Given the description of an element on the screen output the (x, y) to click on. 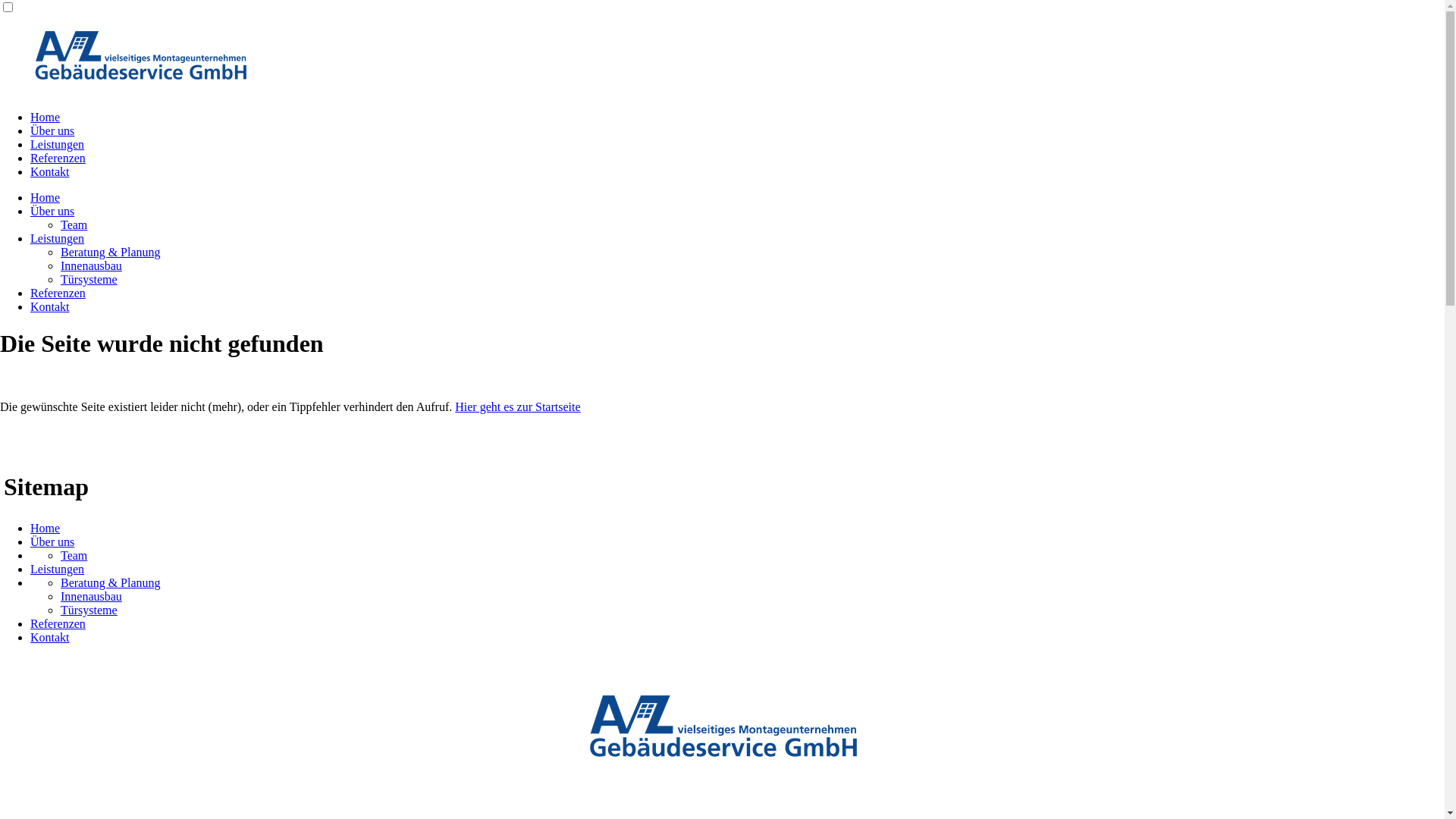
Innenausbau Element type: text (91, 265)
Beratung & Planung Element type: text (110, 251)
Team Element type: text (73, 224)
Beratung & Planung Element type: text (110, 582)
Referenzen Element type: text (57, 292)
Kontakt Element type: text (49, 171)
Home Element type: text (44, 197)
Referenzen Element type: text (57, 157)
Leistungen Element type: text (57, 238)
Referenzen Element type: text (57, 623)
Kontakt Element type: text (49, 636)
Leistungen Element type: text (57, 144)
Home Element type: text (44, 527)
Hier geht es zur Startseite Element type: text (517, 406)
Leistungen Element type: text (57, 568)
Home Element type: text (44, 116)
Kontakt Element type: text (49, 306)
Innenausbau Element type: text (91, 595)
Team Element type: text (73, 555)
